Given the description of an element on the screen output the (x, y) to click on. 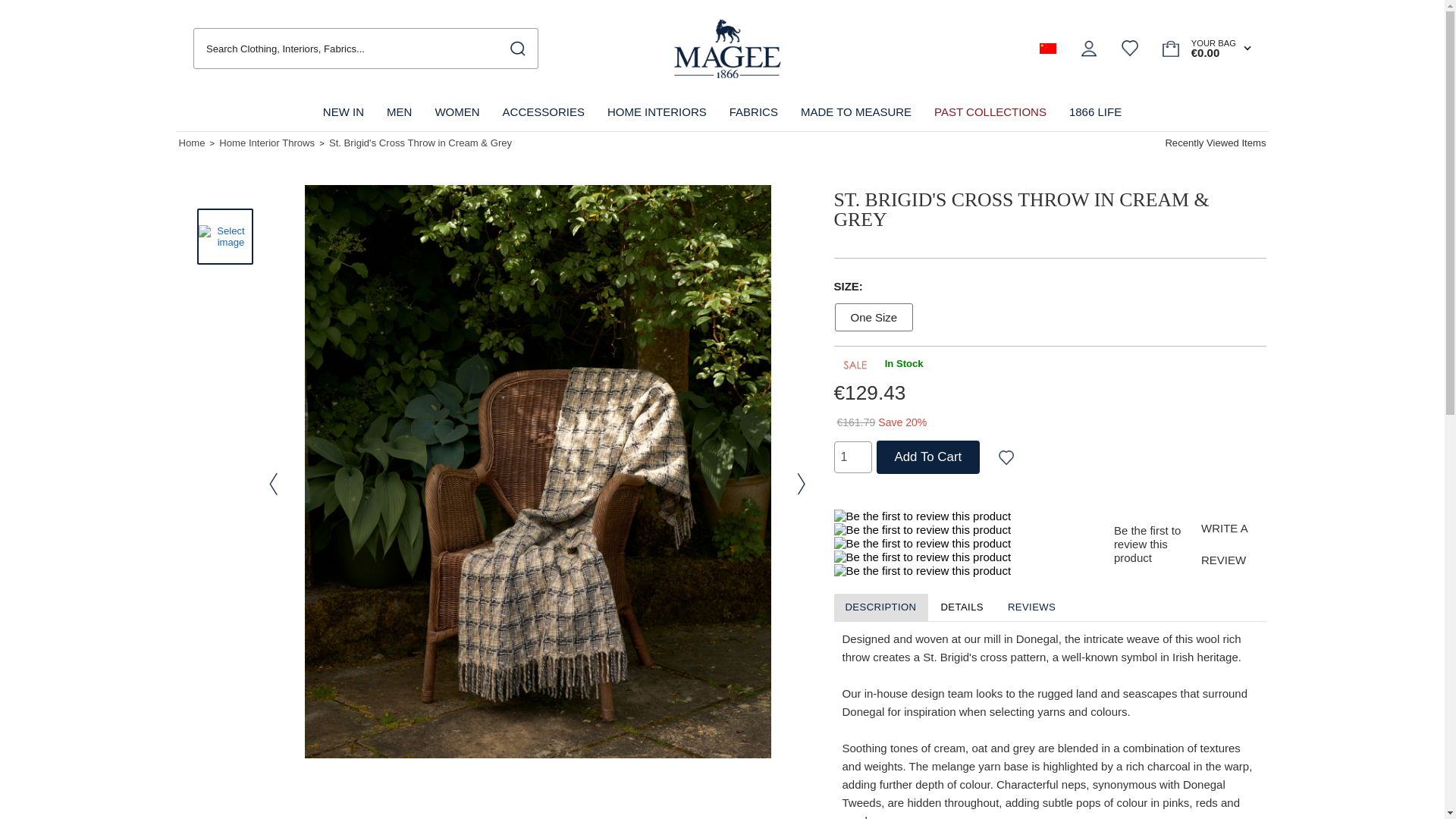
NEW IN (343, 112)
Country Settings (1048, 48)
Account login (1088, 48)
1 (853, 457)
MEN (399, 112)
Magee 1866 Men's Collection (399, 112)
Wishlist (1129, 48)
